Given the description of an element on the screen output the (x, y) to click on. 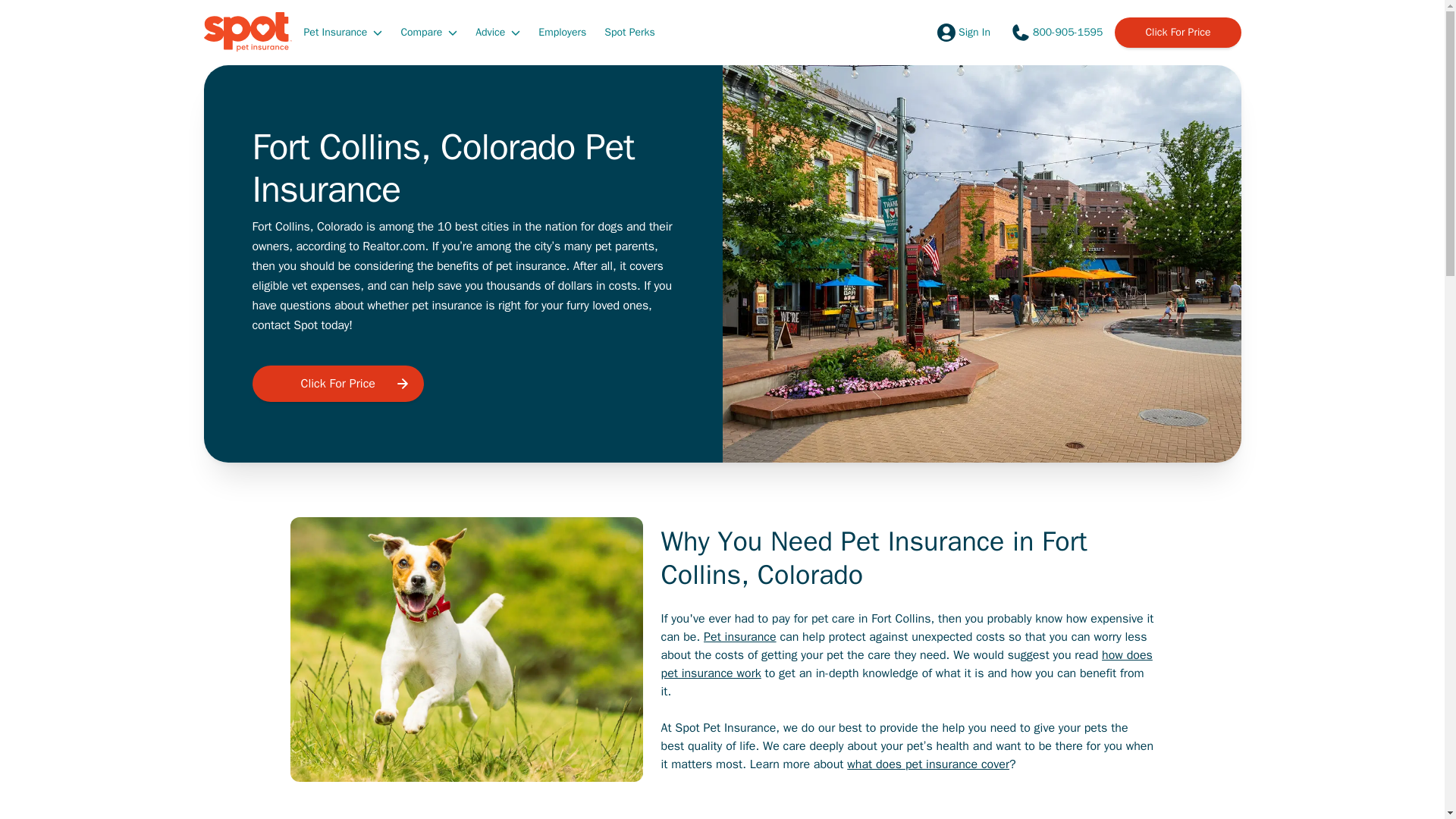
Click For Price (1177, 31)
800-905-1595 (1055, 31)
how does pet insurance work (907, 663)
Pet insurance (739, 636)
what does pet insurance cover (928, 764)
Spot Perks (629, 31)
Sign in to the Member Center (962, 31)
Employers (562, 31)
Click For Price (337, 383)
Sign In (962, 31)
